Given the description of an element on the screen output the (x, y) to click on. 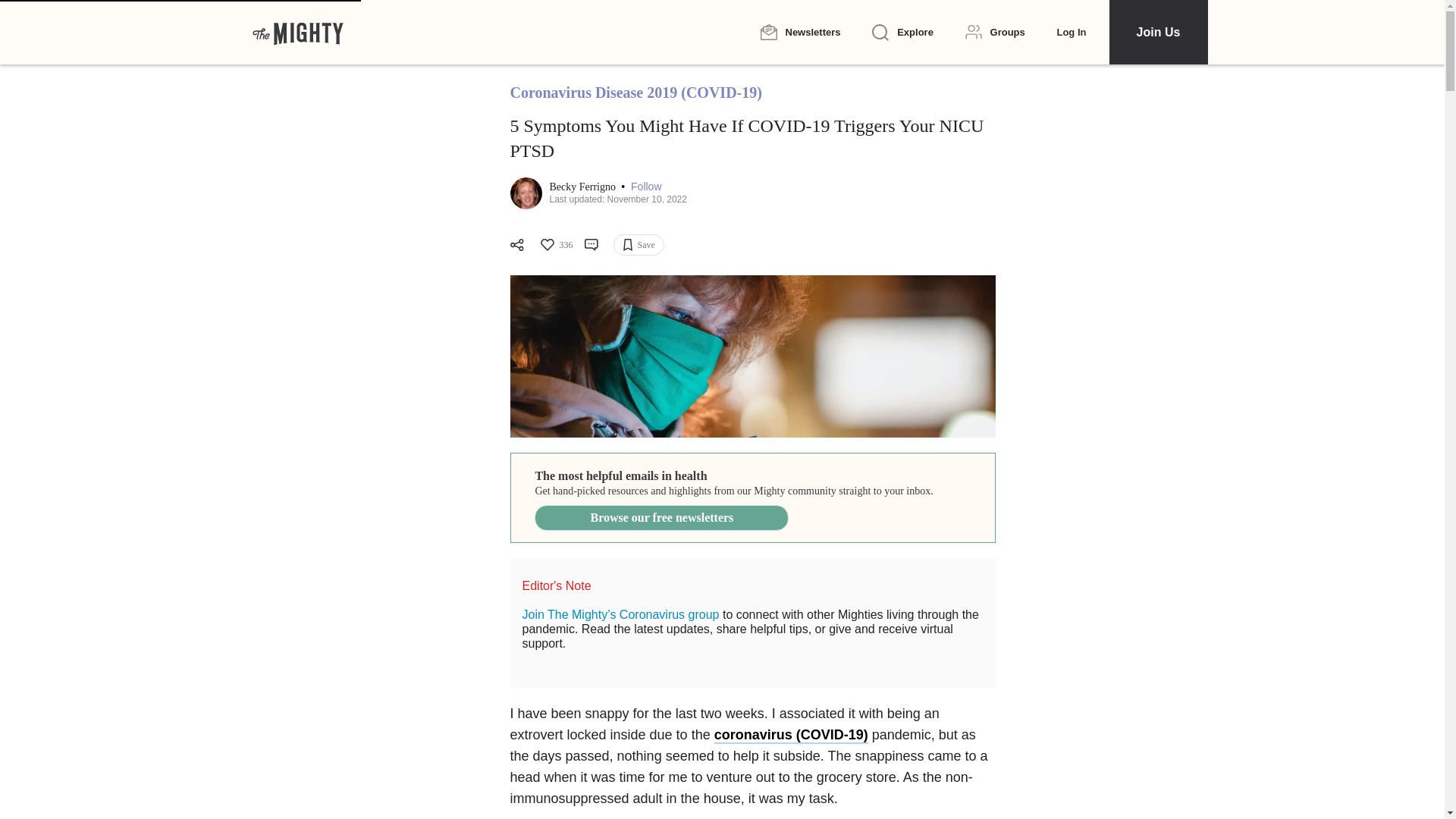
Save (637, 244)
Newsletters (800, 31)
Groups (995, 32)
The Mighty (296, 32)
336 (555, 244)
Explore (902, 32)
Browse our free newsletters (661, 517)
Becky Ferrigno (582, 186)
Join Us (1157, 32)
Follow (645, 186)
